Given the description of an element on the screen output the (x, y) to click on. 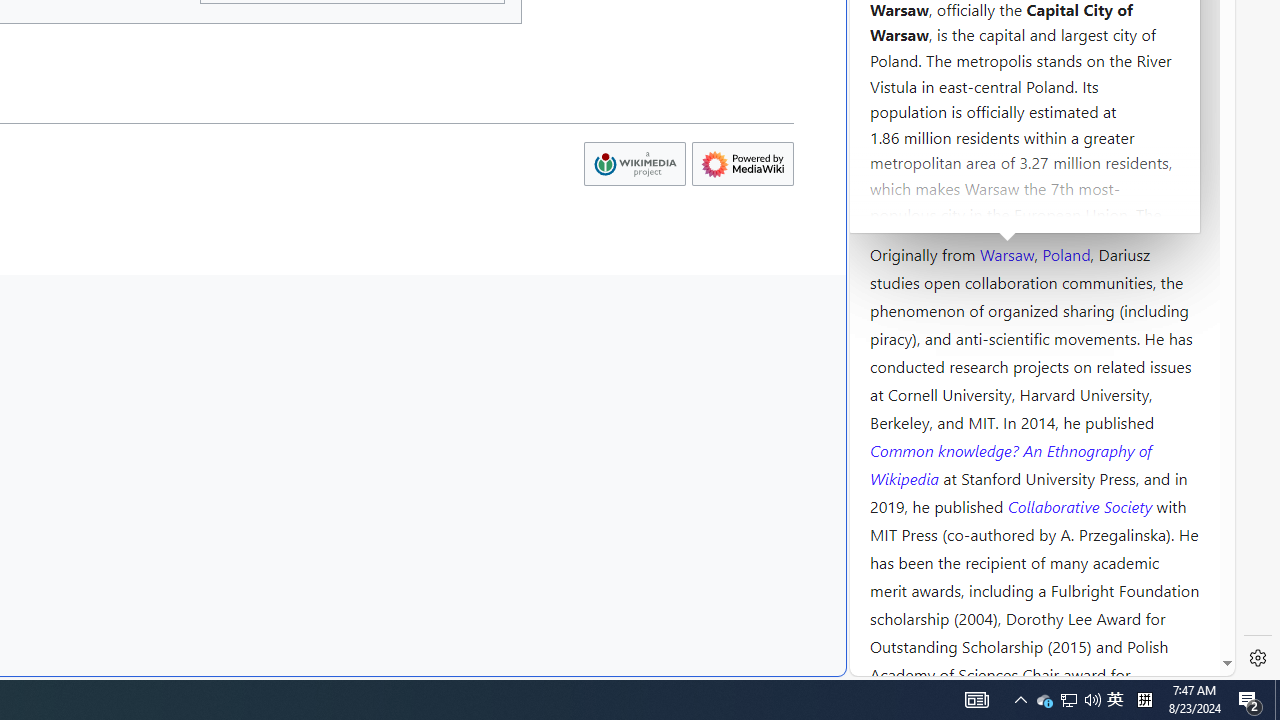
Powered by MediaWiki (742, 164)
Actions for this site (1129, 306)
Global web icon (888, 663)
Harvard University (934, 205)
Kozminski University (1034, 136)
Common knowledge? An Ethnography of Wikipedia (1010, 463)
Warsaw (1006, 253)
MSN (687, 223)
Poland (1065, 253)
Wikimedia Foundation (634, 164)
